Given the description of an element on the screen output the (x, y) to click on. 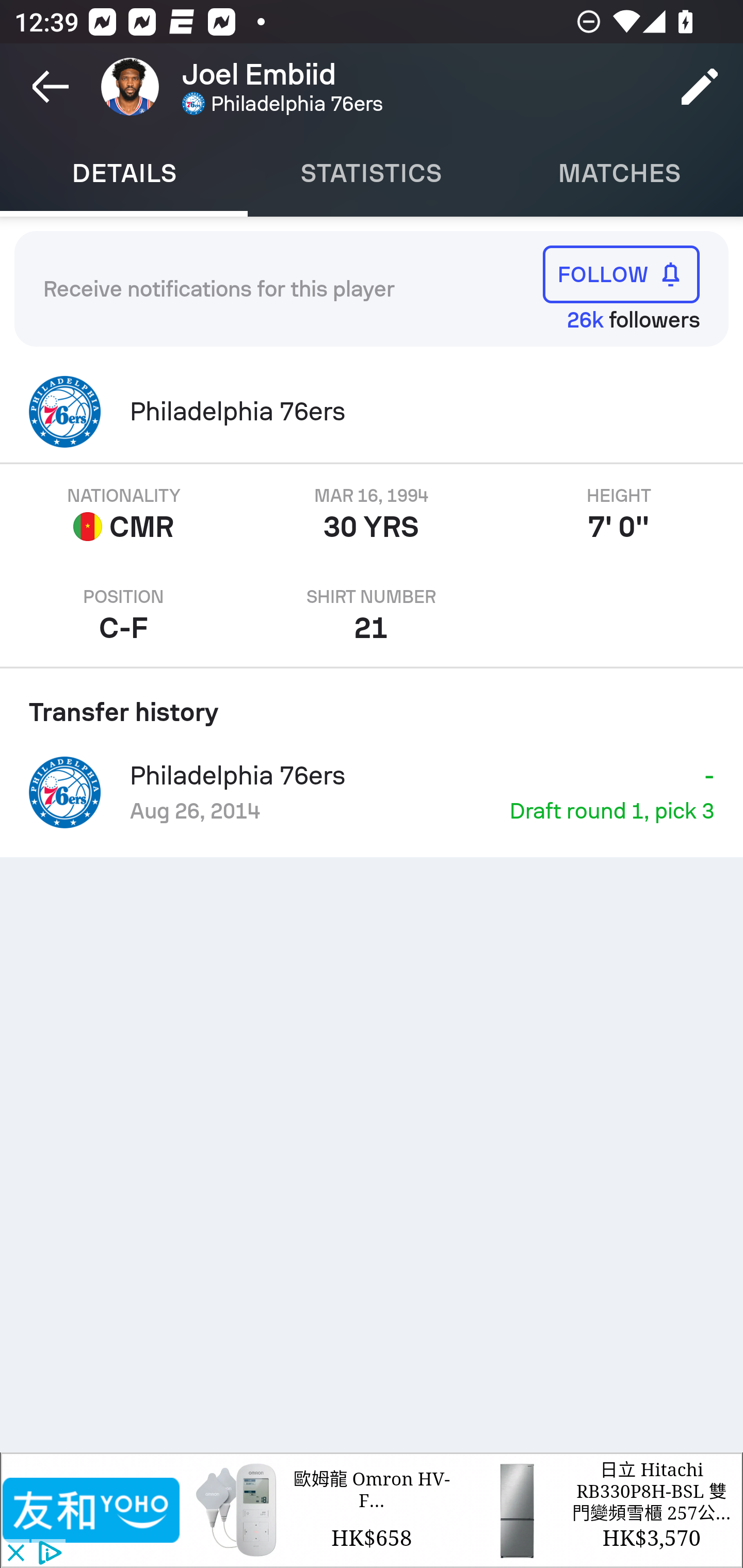
Navigate up (50, 86)
Edit (699, 86)
Statistics STATISTICS (371, 173)
Matches MATCHES (619, 173)
FOLLOW (621, 274)
Philadelphia 76ers (371, 411)
NATIONALITY CMR (123, 515)
POSITION C-F (123, 616)
Transfer history (371, 704)
   (91, 1509)
close_button (14, 1553)
privacy_small (47, 1553)
